Given the description of an element on the screen output the (x, y) to click on. 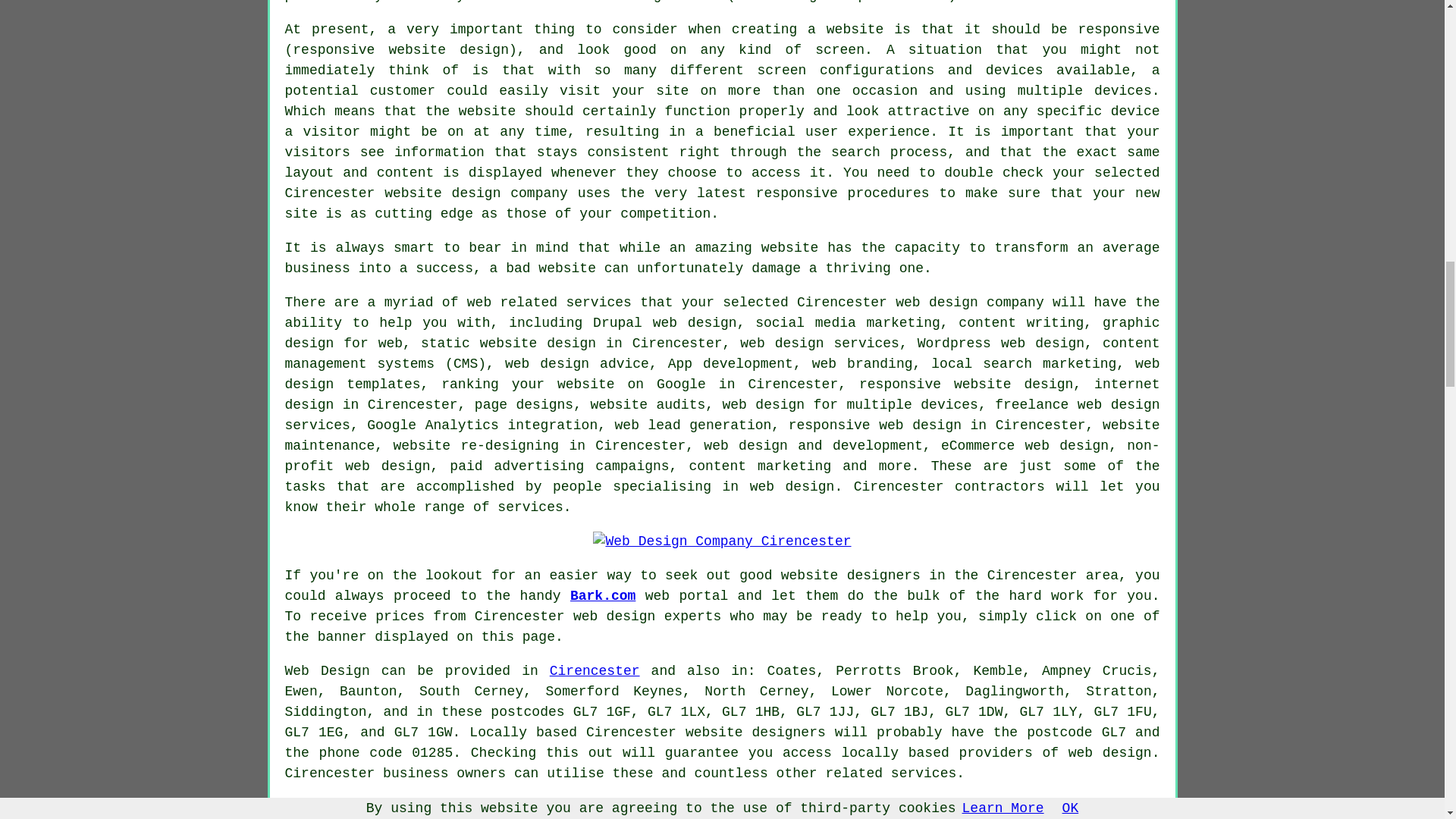
services (598, 302)
web (907, 302)
services (529, 507)
Web Design (327, 670)
responsive web design (874, 425)
Wordpress web design (1000, 343)
web design services (819, 343)
